Given the description of an element on the screen output the (x, y) to click on. 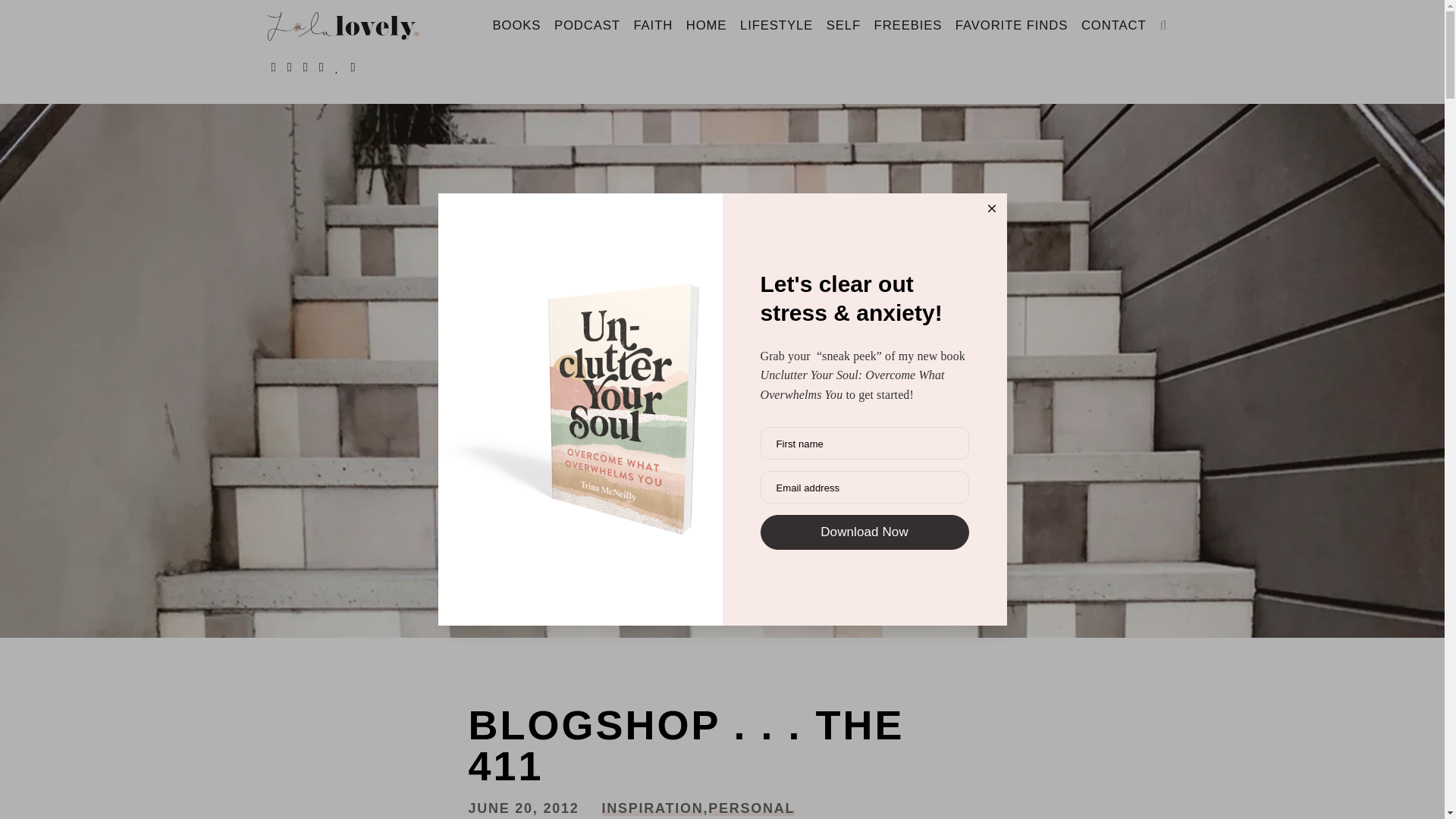
PODCAST (587, 25)
LIFESTYLE (776, 25)
FREEBIES (908, 25)
FAITH (653, 25)
Search (40, 17)
BOOKS (516, 25)
FAVORITE FINDS (1011, 25)
HOME (706, 25)
SELF (843, 25)
